Given the description of an element on the screen output the (x, y) to click on. 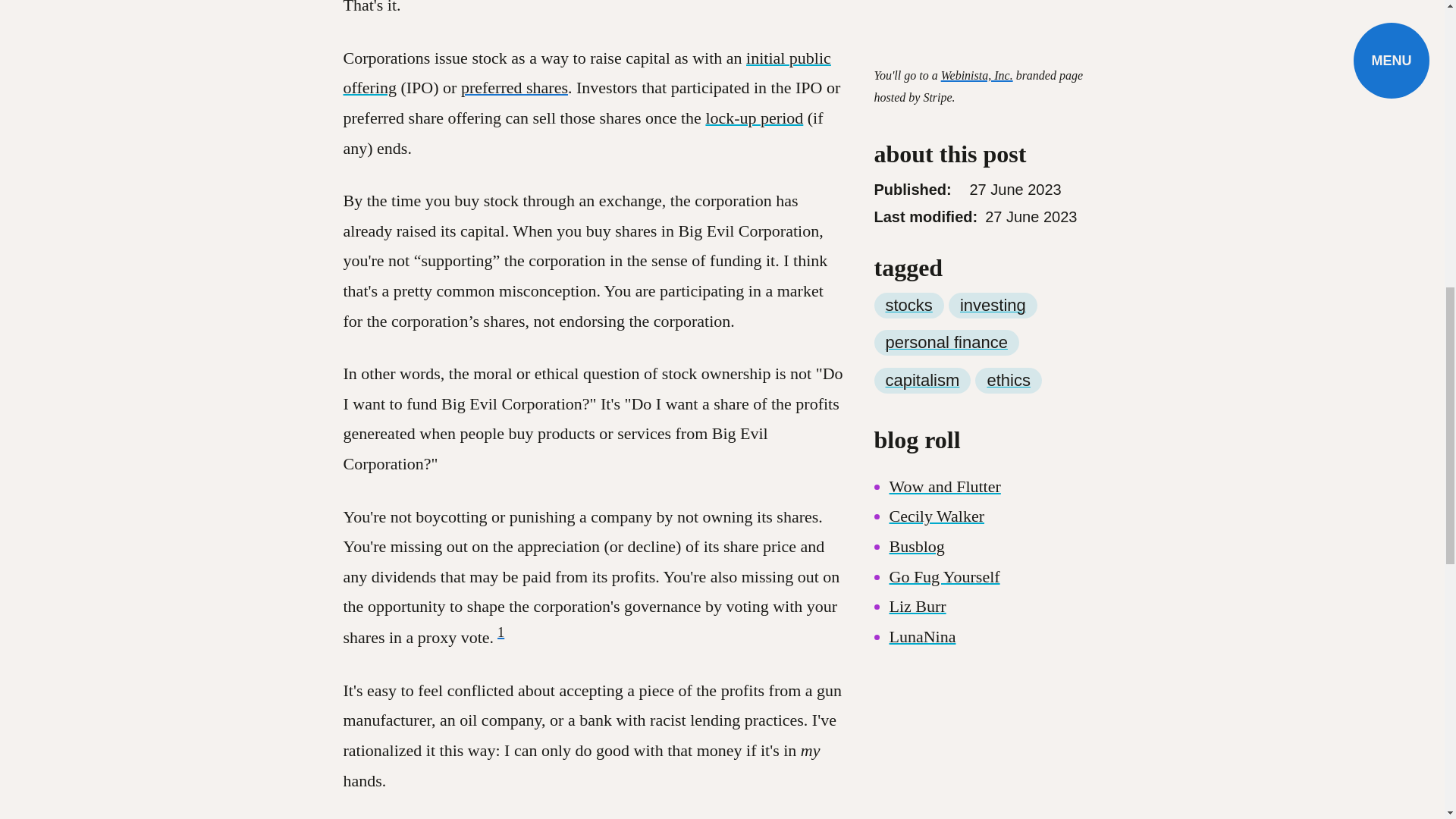
lock-up period (753, 117)
Webinista, Inc. (976, 20)
Wow and Flutter (944, 431)
capitalism (922, 325)
initial public offering (585, 72)
personal finance (945, 288)
ethics (1008, 325)
investing (992, 250)
LunaNina (921, 581)
preferred shares (514, 87)
